Given the description of an element on the screen output the (x, y) to click on. 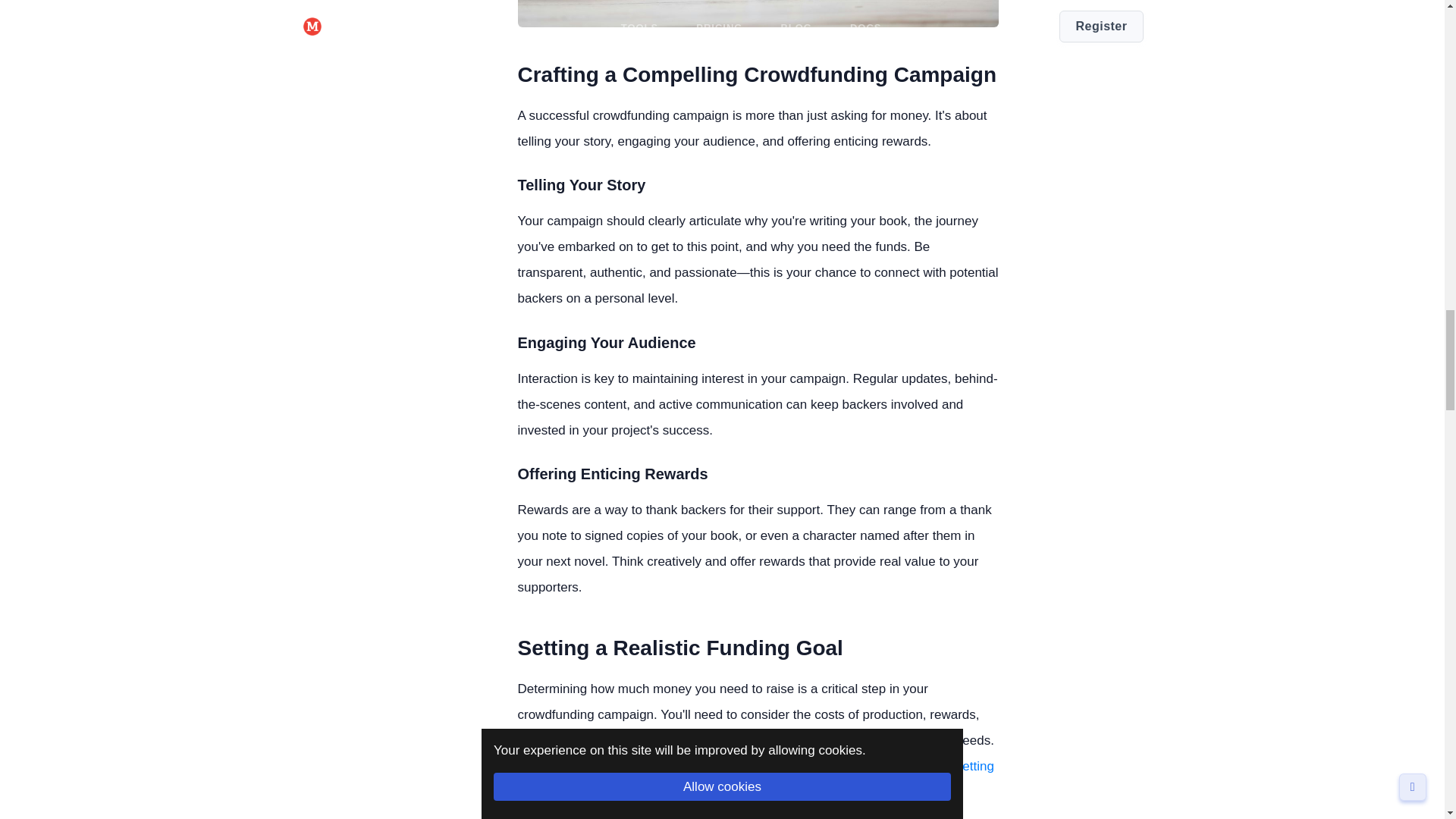
Setting Realistic Goals in Book Crowdfunding (754, 779)
